Given the description of an element on the screen output the (x, y) to click on. 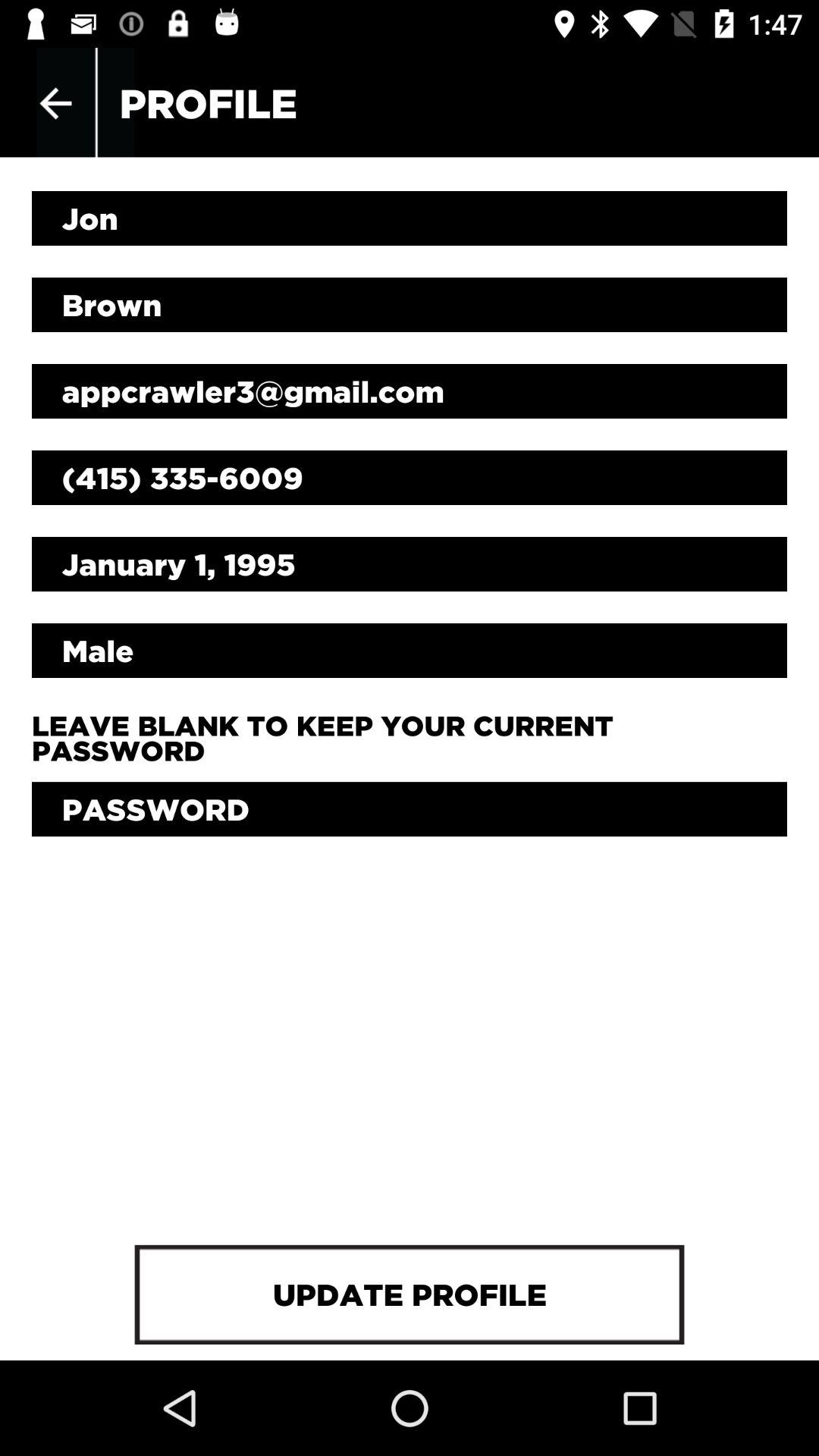
click on fourth text field (409, 477)
select the option jon (409, 218)
select the option below password (409, 1293)
click on the 3rd line below profile (409, 390)
